Given the description of an element on the screen output the (x, y) to click on. 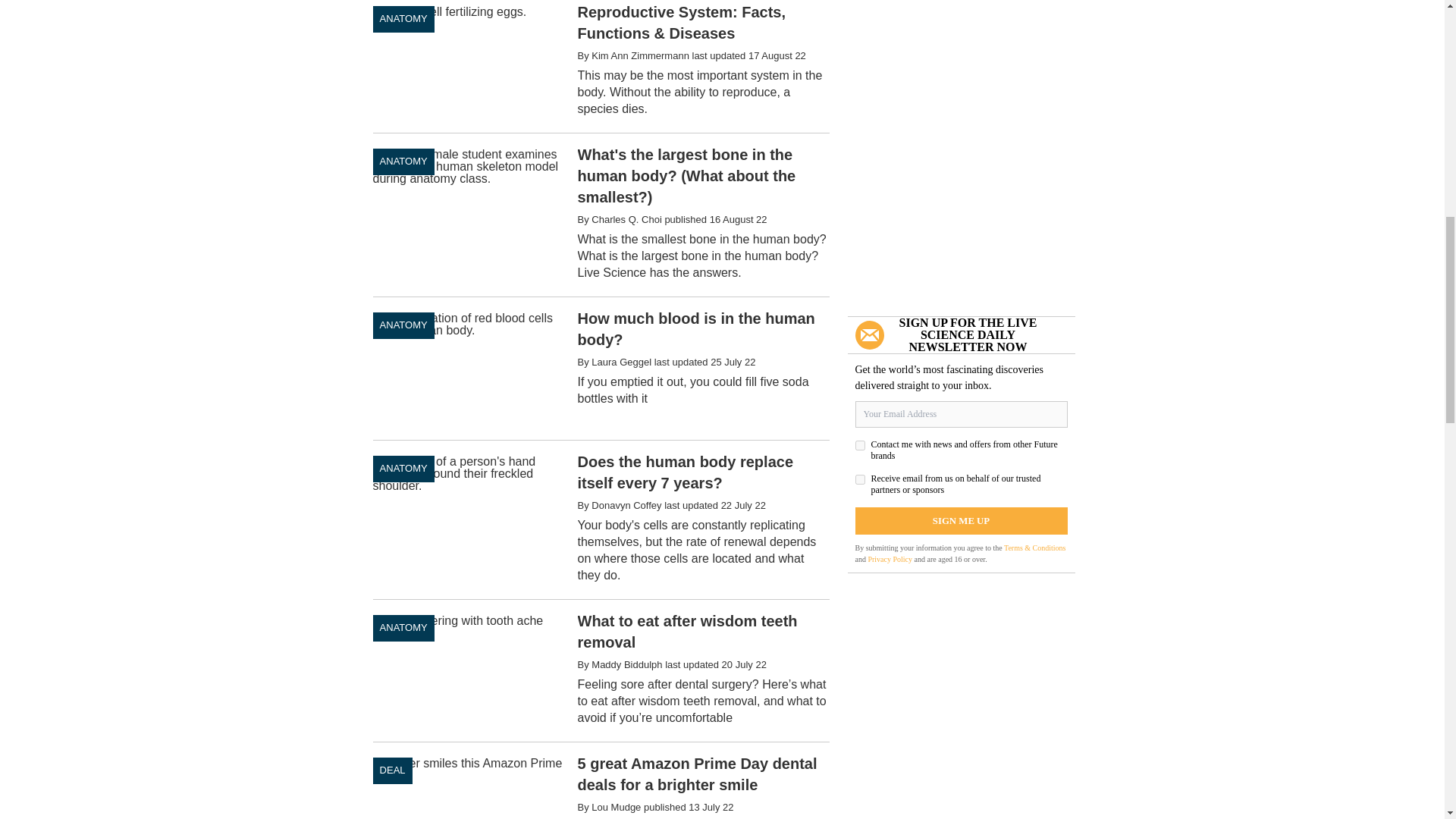
on (860, 445)
on (860, 479)
ANATOMY (402, 18)
Sign me up (961, 520)
